Given the description of an element on the screen output the (x, y) to click on. 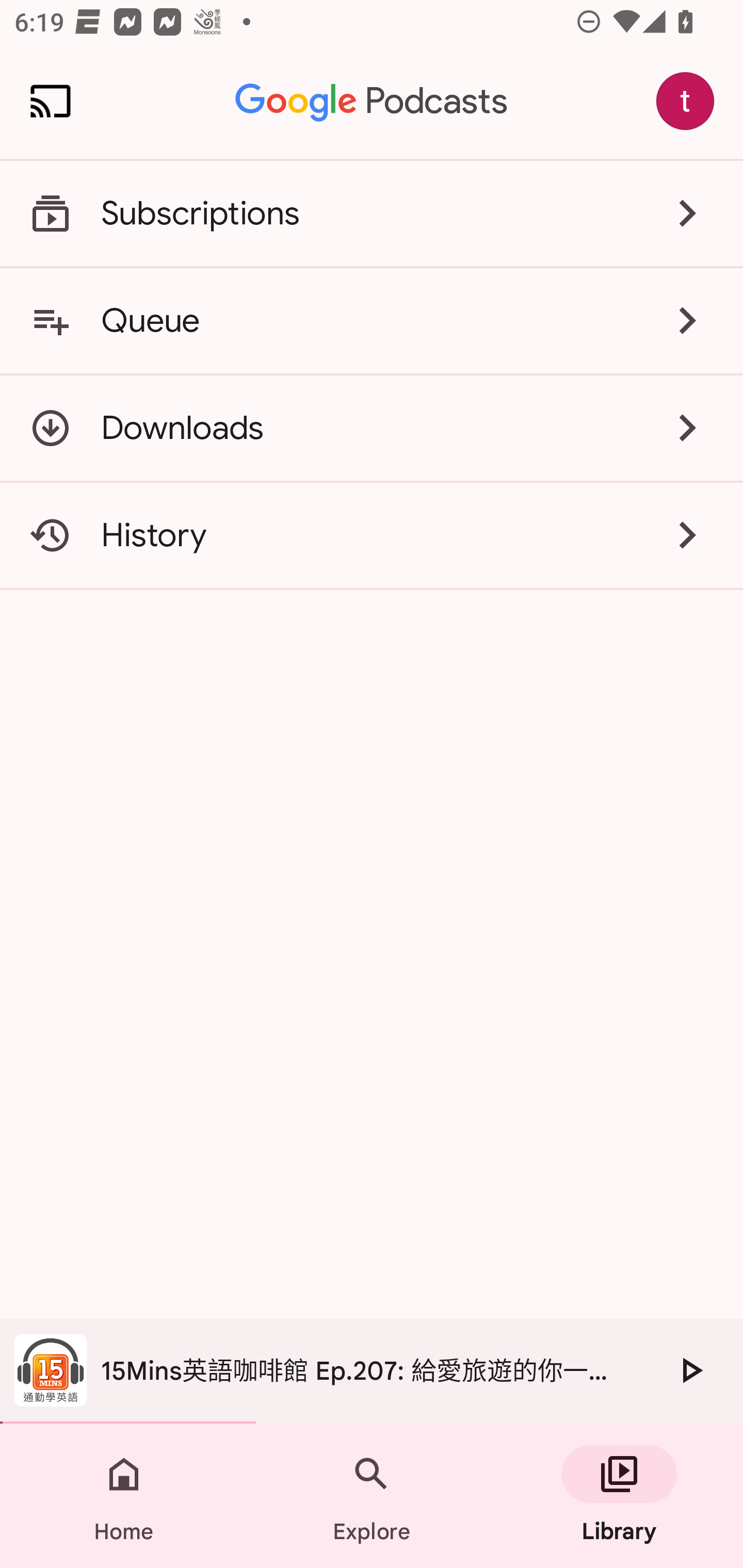
Cast. Disconnected (50, 101)
Subscriptions (371, 213)
Queue (371, 320)
Downloads (371, 427)
History (371, 535)
Play (690, 1370)
Home (123, 1495)
Explore (371, 1495)
